Given the description of an element on the screen output the (x, y) to click on. 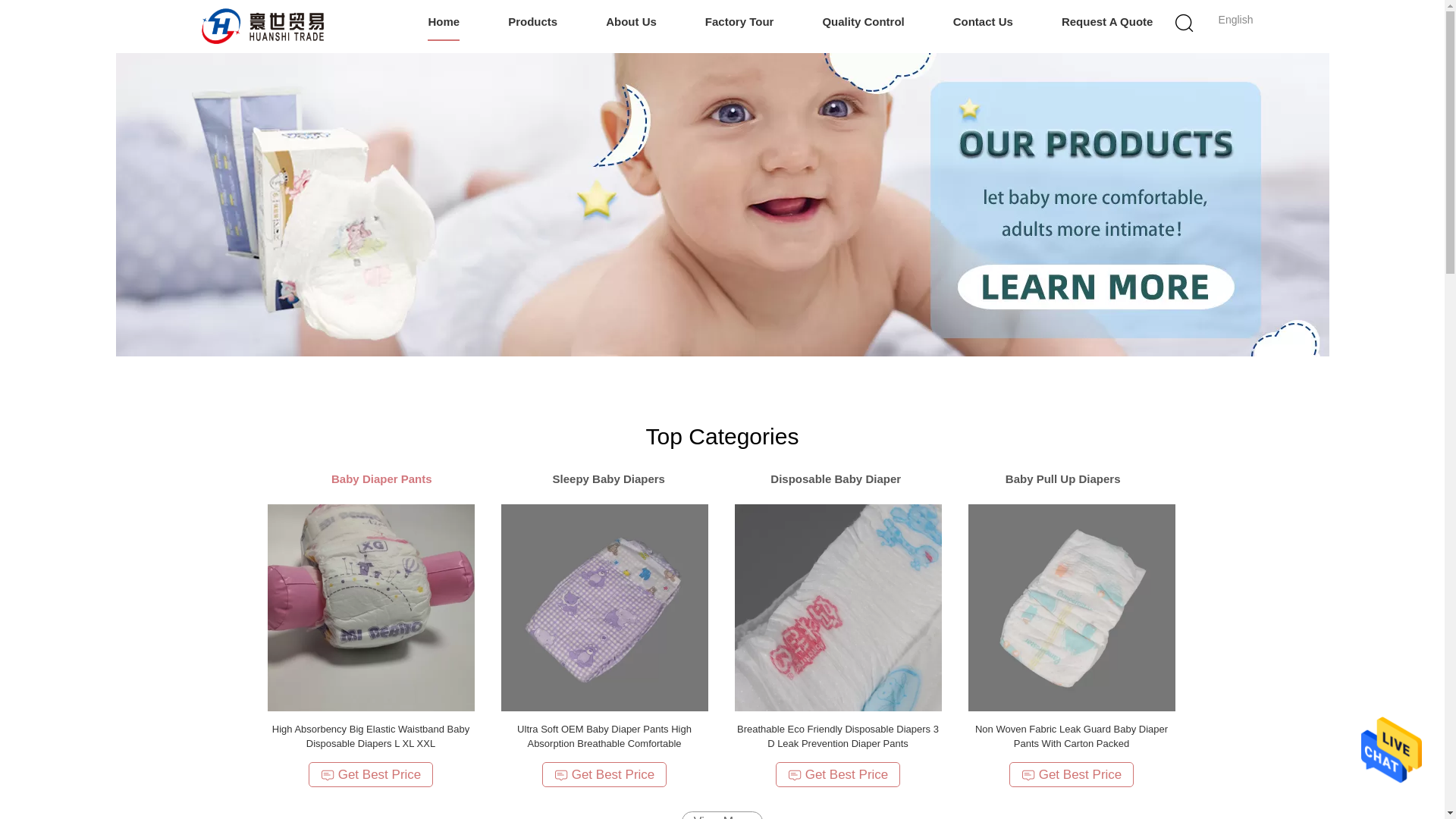
Factory Tour (739, 22)
Products (532, 22)
About Us (630, 22)
Search (1044, 100)
Request A Quote (1107, 22)
Guangzhou Huanshi Trade Co., Ltd. (264, 25)
Quality Control (863, 22)
Contact Us (983, 22)
